Given the description of an element on the screen output the (x, y) to click on. 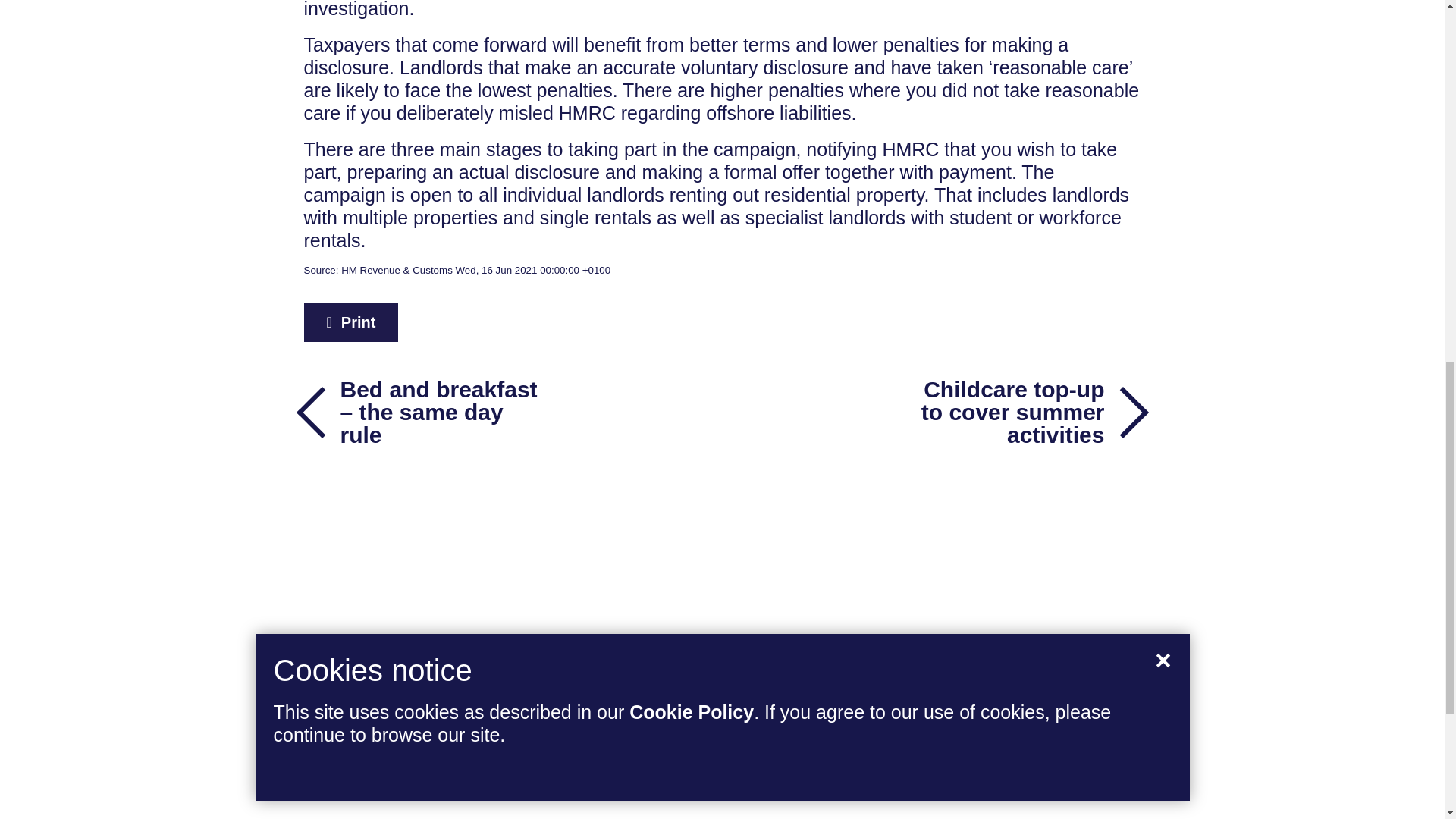
Childcare top-up to cover summer activities (1019, 412)
Childcare top-up to cover summer activities (1019, 412)
